Given the description of an element on the screen output the (x, y) to click on. 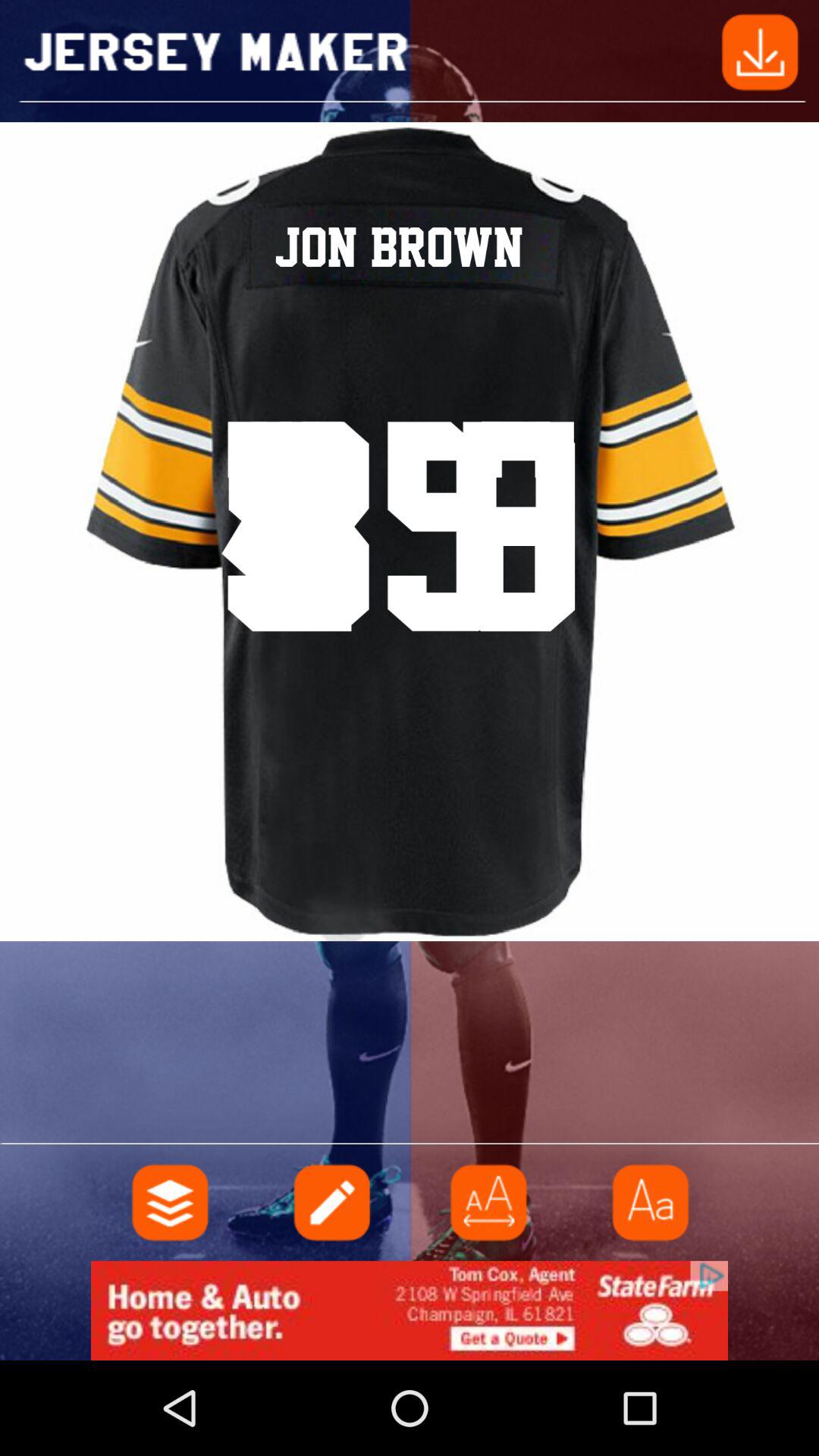
clickable advertisement (409, 1310)
